Given the description of an element on the screen output the (x, y) to click on. 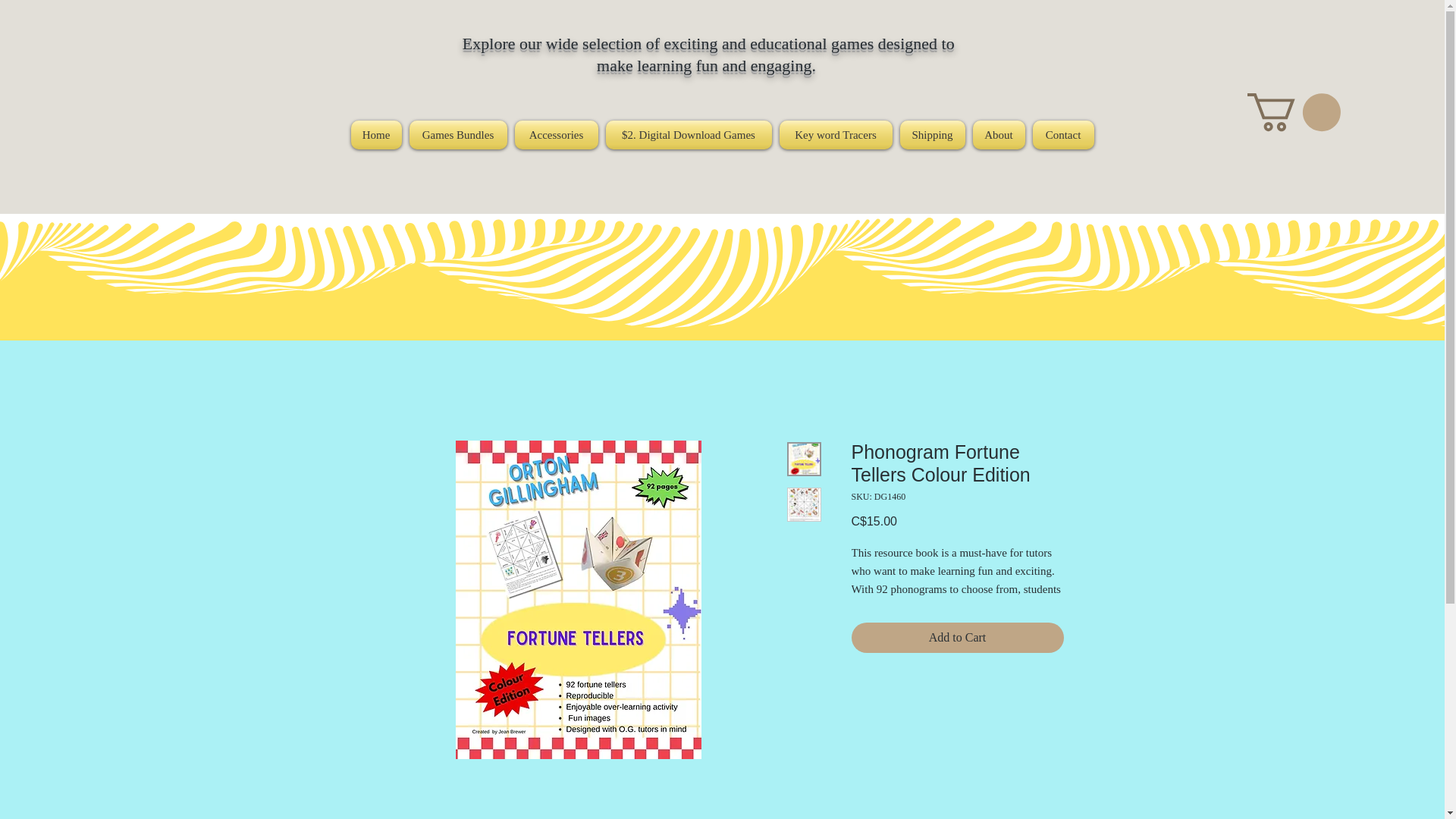
Accessories (556, 134)
Home (377, 134)
Games Bundles (457, 134)
Shipping (932, 134)
About (999, 134)
Key word Tracers (834, 134)
Add to Cart (956, 637)
Contact (1060, 134)
